Given the description of an element on the screen output the (x, y) to click on. 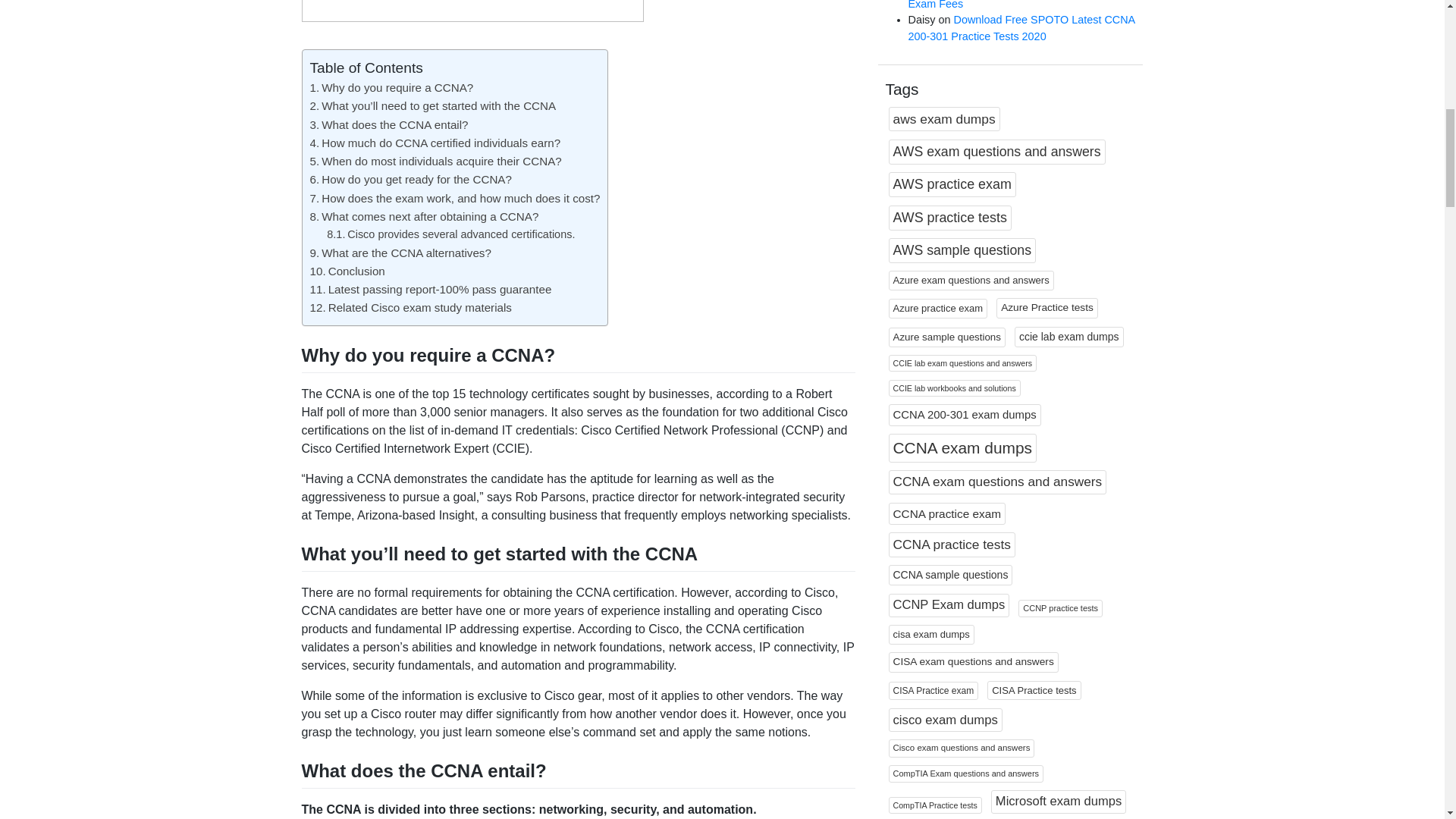
What does the CCNA entail? (387, 124)
What are the CCNA alternatives? (399, 251)
Conclusion (346, 270)
Cisco provides several advanced certifications. (450, 234)
When do most individuals acquire their CCNA? (434, 160)
Why do you require a CCNA? (390, 87)
How does the exam work, and how much does it cost? (453, 197)
How do you get ready for the CCNA? (409, 178)
How much do CCNA certified individuals earn? (434, 142)
What comes next after obtaining a CCNA? (423, 215)
